Given the description of an element on the screen output the (x, y) to click on. 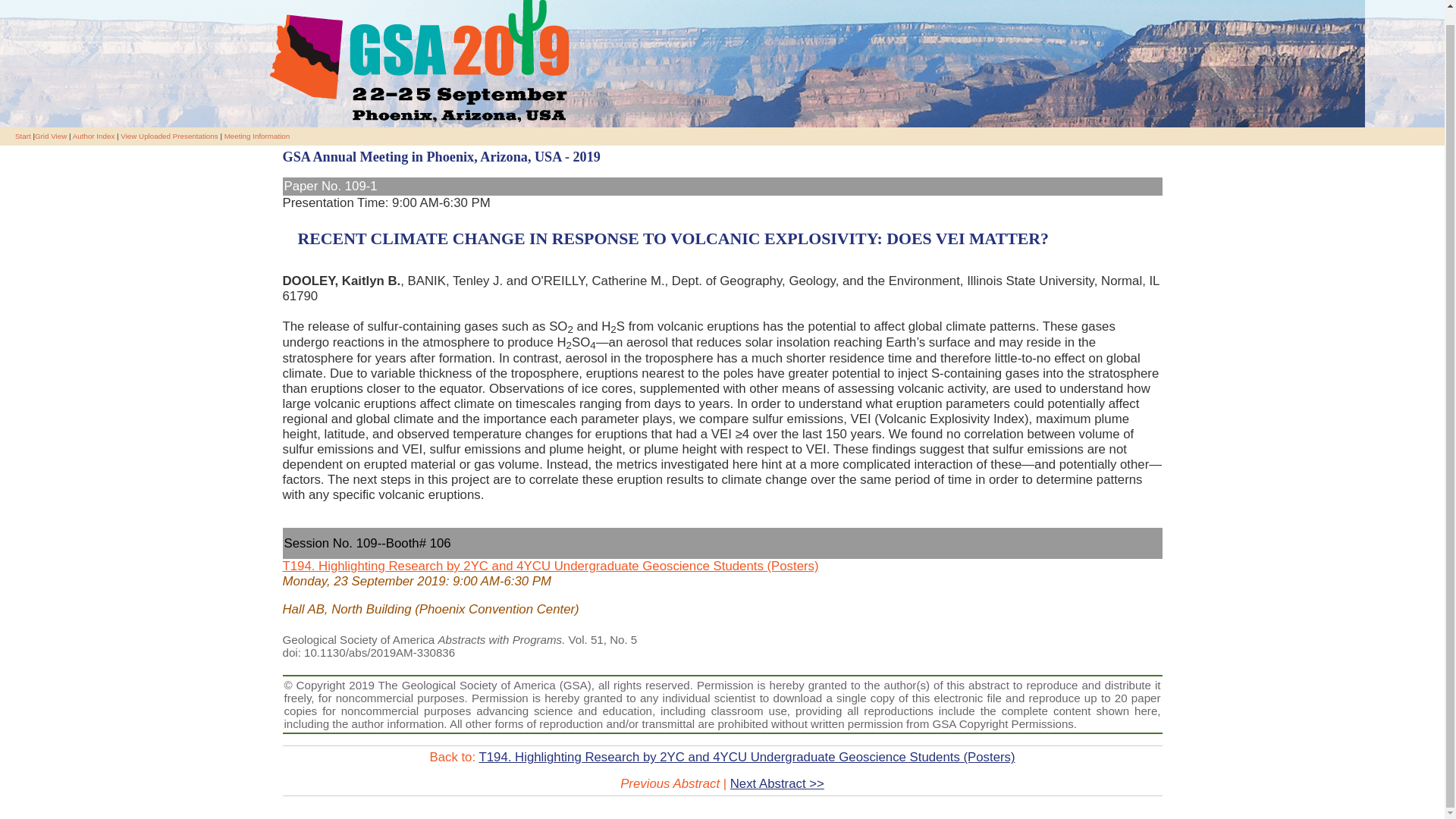
Start (22, 135)
View Uploaded Presentations (168, 135)
Grid View (50, 135)
Meeting Information (256, 135)
Author Index (93, 135)
